Given the description of an element on the screen output the (x, y) to click on. 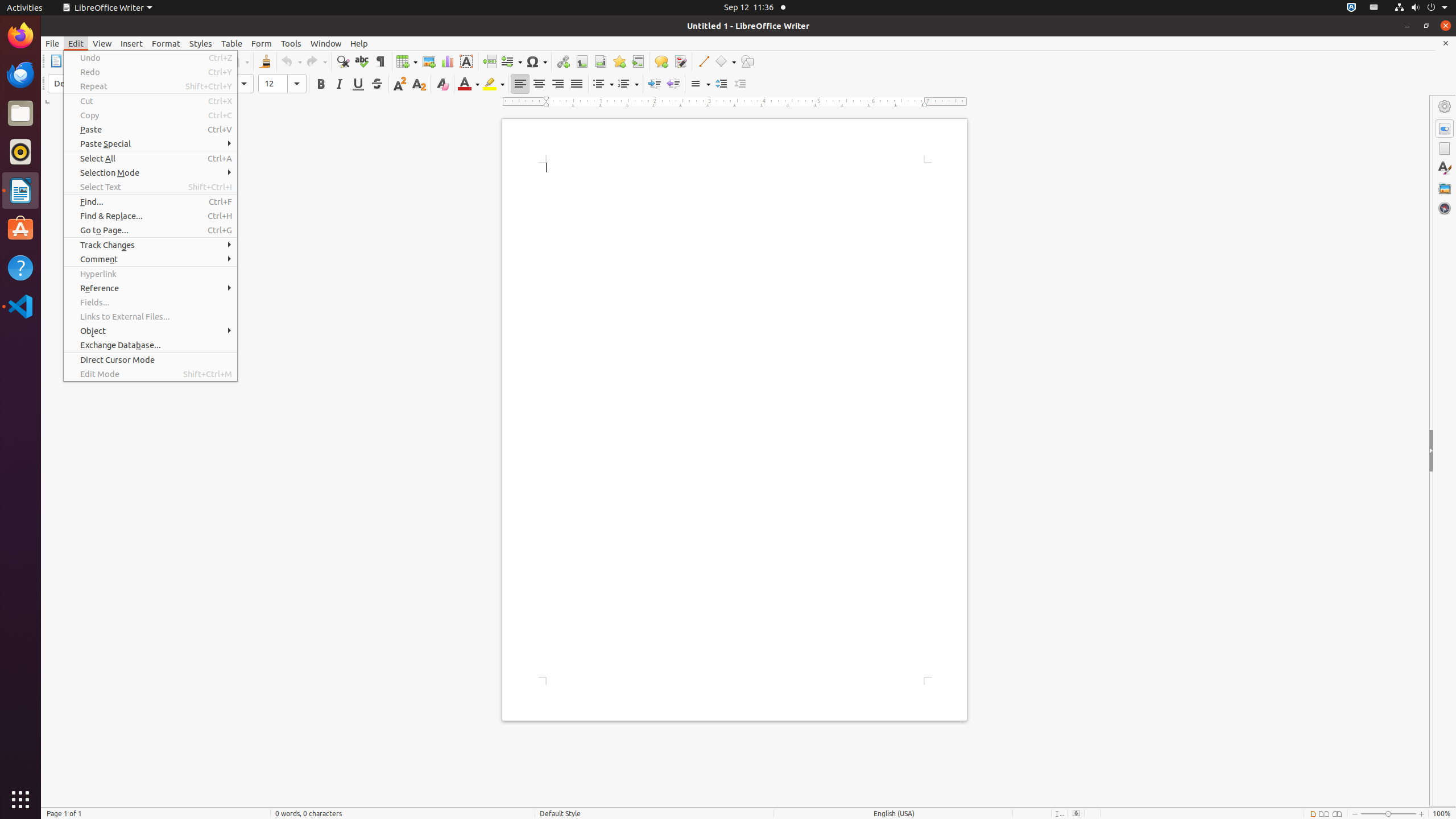
Increase Element type: push-button (721, 83)
Edit Mode Element type: menu-item (150, 373)
View Element type: menu (102, 43)
Selection Mode Element type: menu (150, 172)
Properties Element type: radio-button (1444, 128)
